Given the description of an element on the screen output the (x, y) to click on. 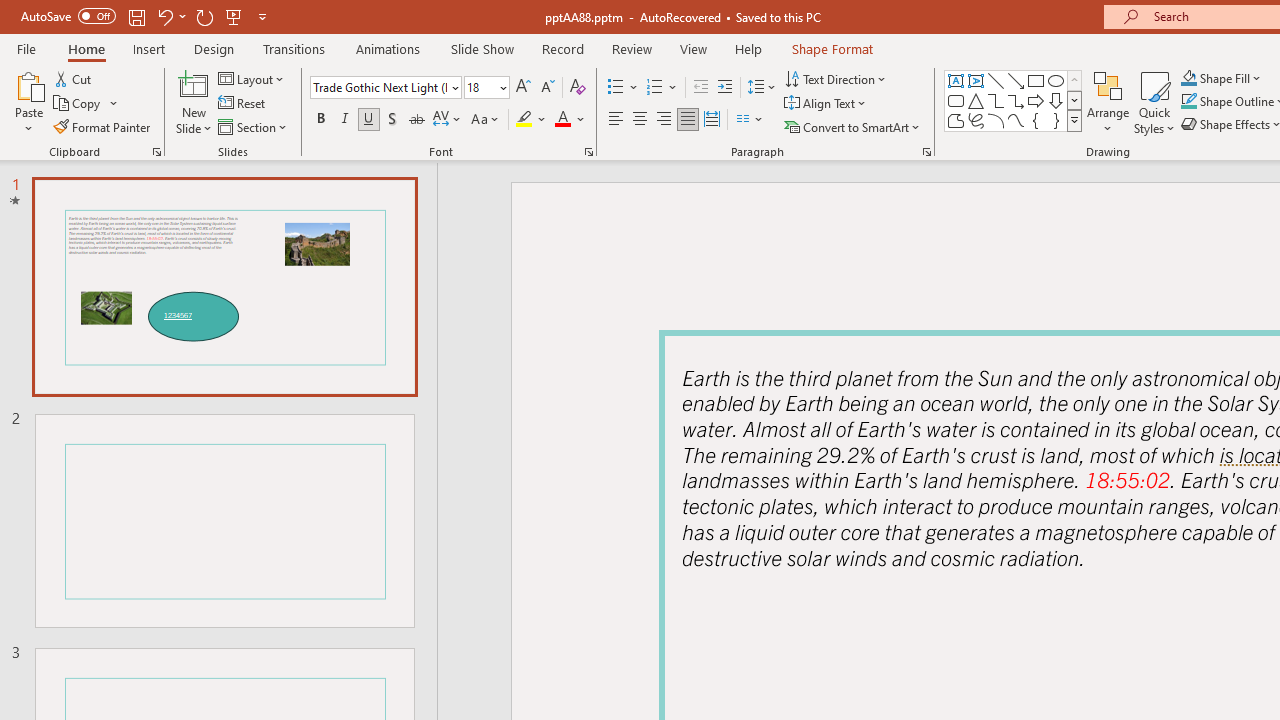
Shape Outline Teal, Accent 1 (1188, 101)
Shape Fill Aqua, Accent 2 (1188, 78)
